Given the description of an element on the screen output the (x, y) to click on. 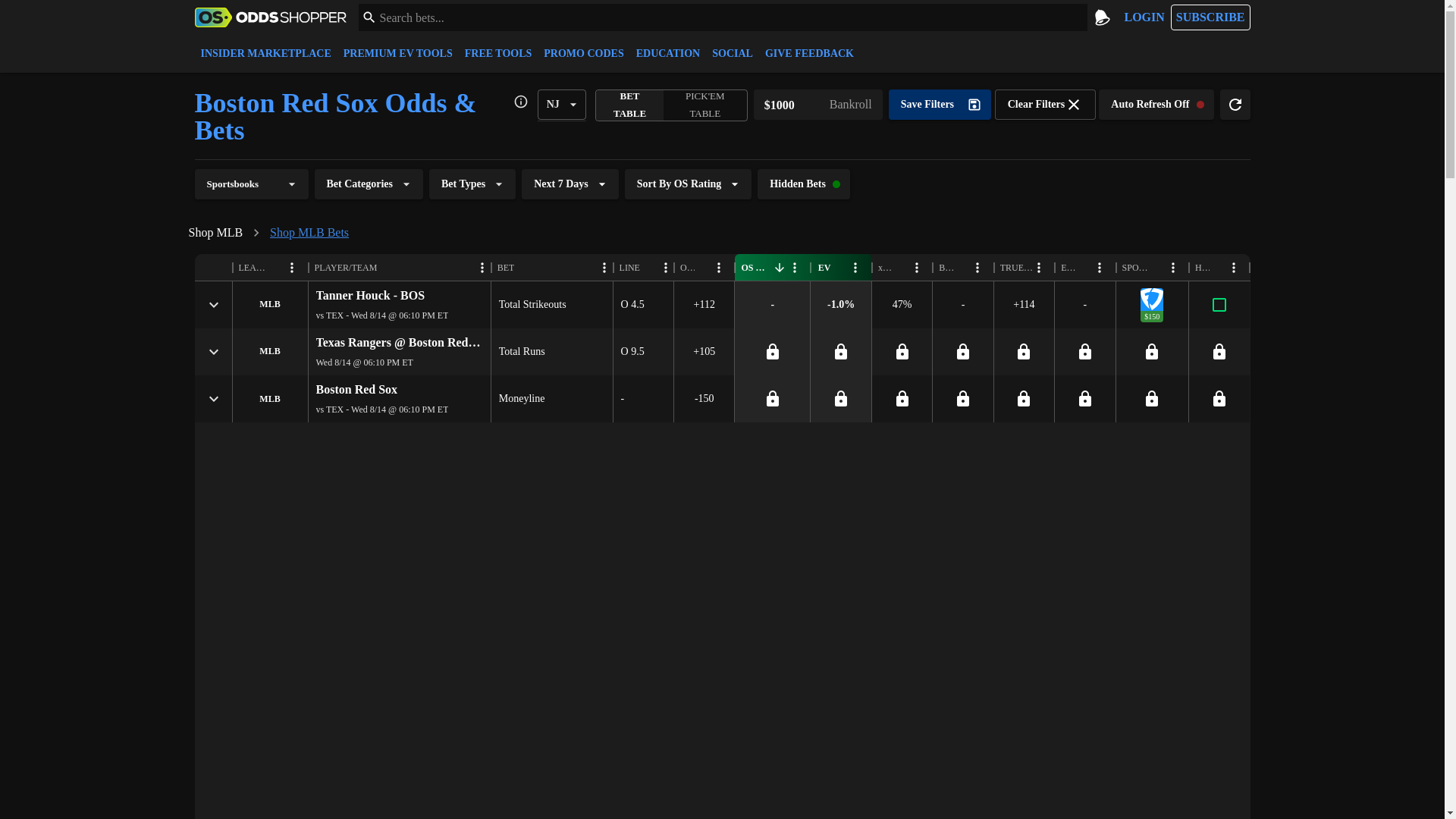
PREMIUM EV TOOLS (397, 53)
Hidden Bets (803, 183)
PICK'EM TABLE (704, 105)
PROMO CODES (582, 53)
Shop MLB Bets (309, 232)
SOCIAL (732, 53)
Clear Filters (1045, 104)
Save Filters (939, 104)
-150 (704, 398)
O 9.5 (633, 351)
